Given the description of an element on the screen output the (x, y) to click on. 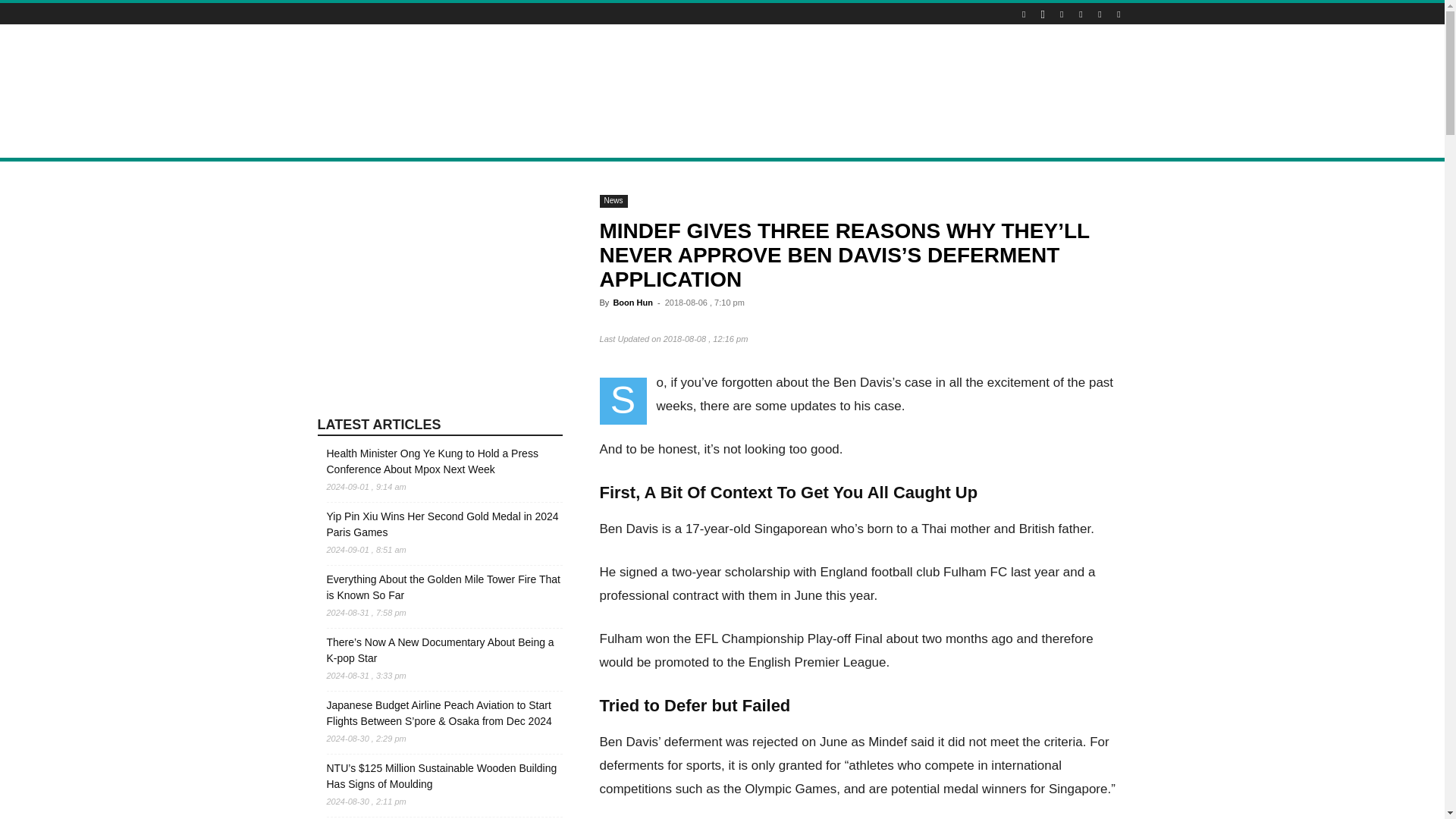
FOOD (511, 139)
NEWS (341, 139)
FEATURED (885, 139)
ENTERTAINMENT (584, 139)
WORK (824, 139)
SPOOKS (724, 139)
DEALS (461, 139)
LIFESTYLE (400, 139)
LAUGHS (663, 139)
TECH (776, 139)
